Given the description of an element on the screen output the (x, y) to click on. 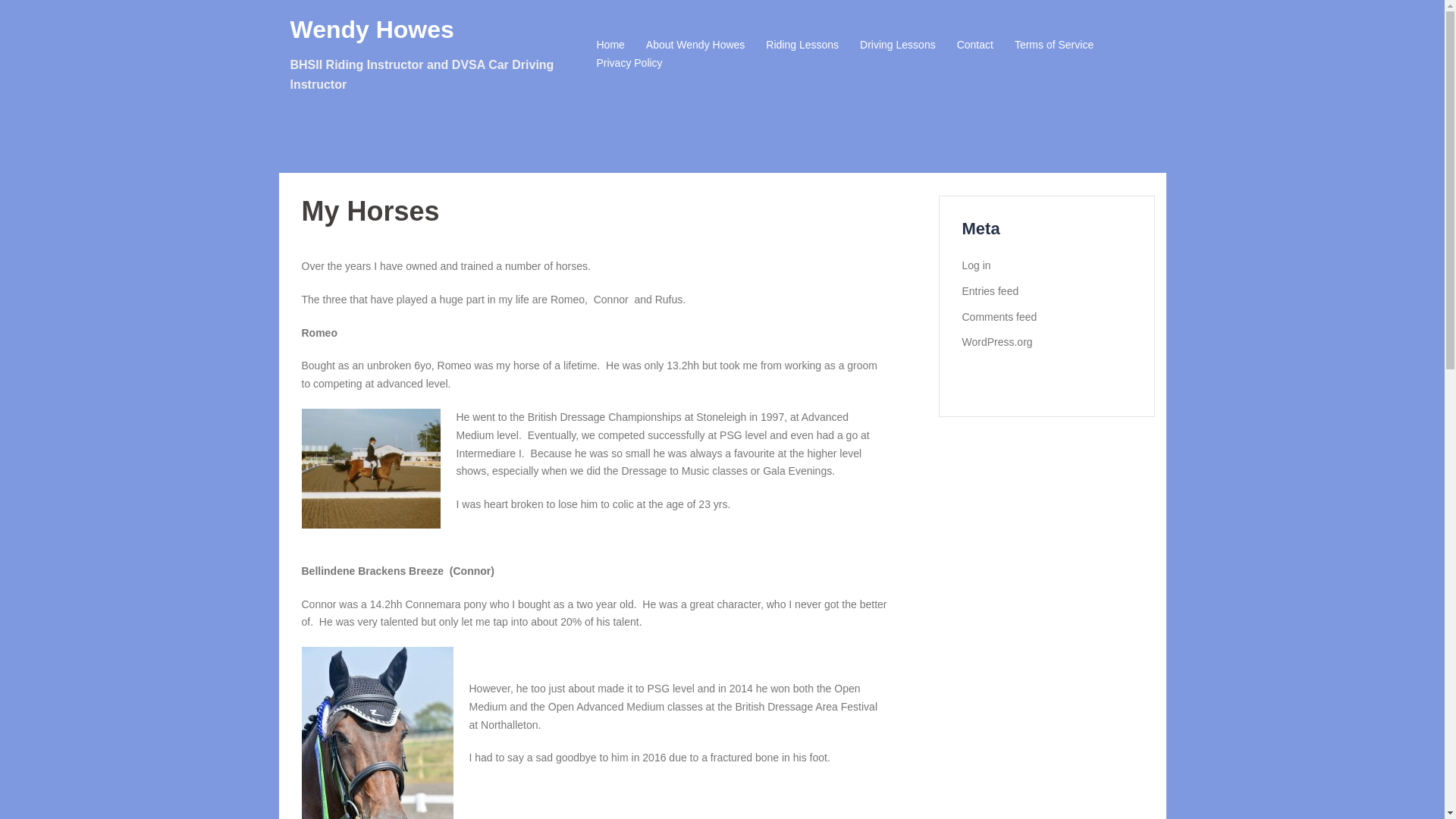
Privacy Policy (628, 63)
WordPress.org (996, 341)
Terms of Service (1053, 45)
Driving Lessons (898, 45)
Log in (975, 265)
Contact (974, 45)
Entries feed (988, 291)
Home (609, 45)
Wendy Howes (370, 29)
Riding Lessons (801, 45)
Comments feed (998, 316)
About Wendy Howes (695, 45)
